Given the description of an element on the screen output the (x, y) to click on. 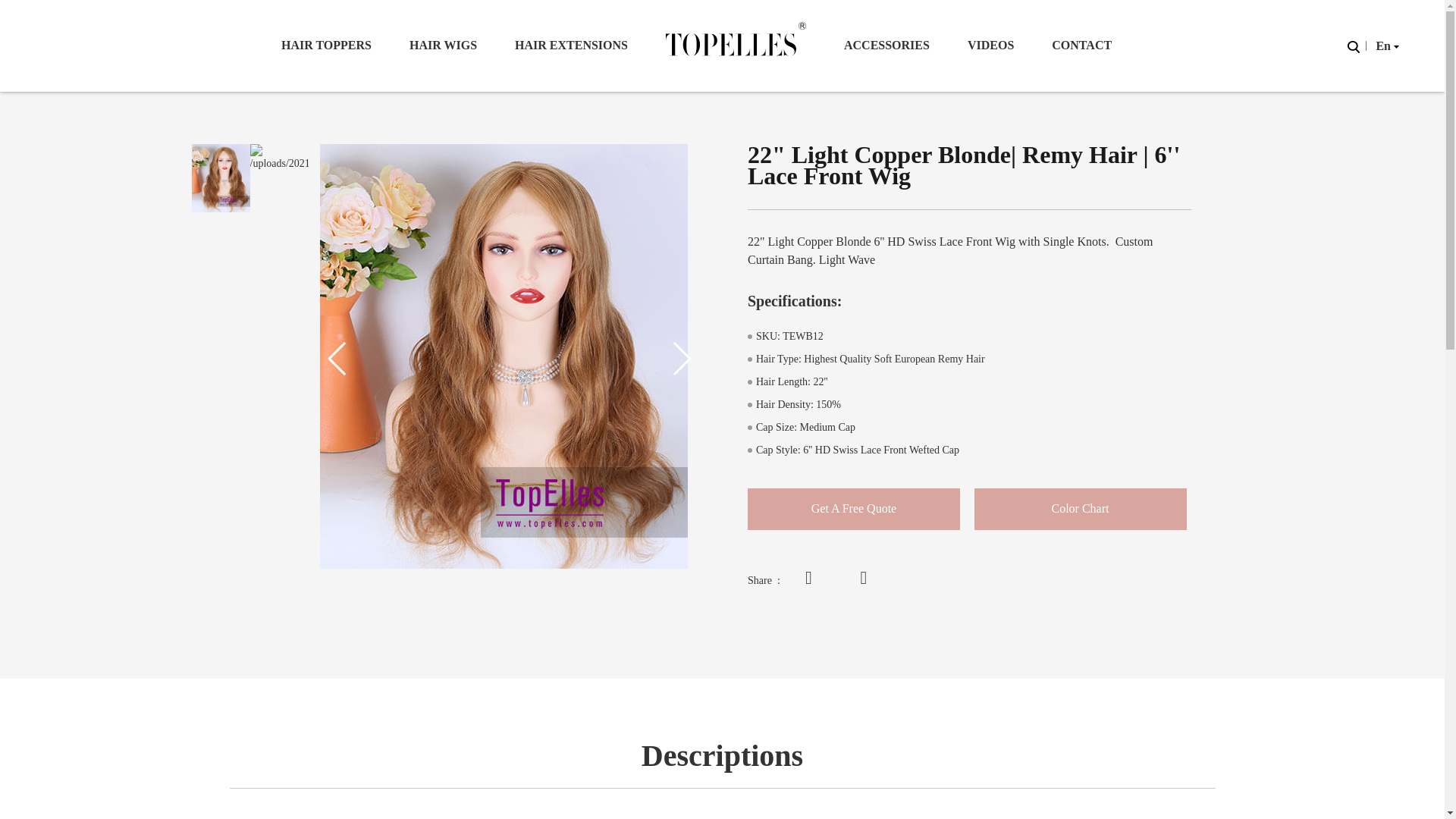
ACCESSORIES (887, 45)
HAIR TOPPERS (326, 45)
HAIR EXTENSIONS (571, 45)
  En (1384, 46)
